Given the description of an element on the screen output the (x, y) to click on. 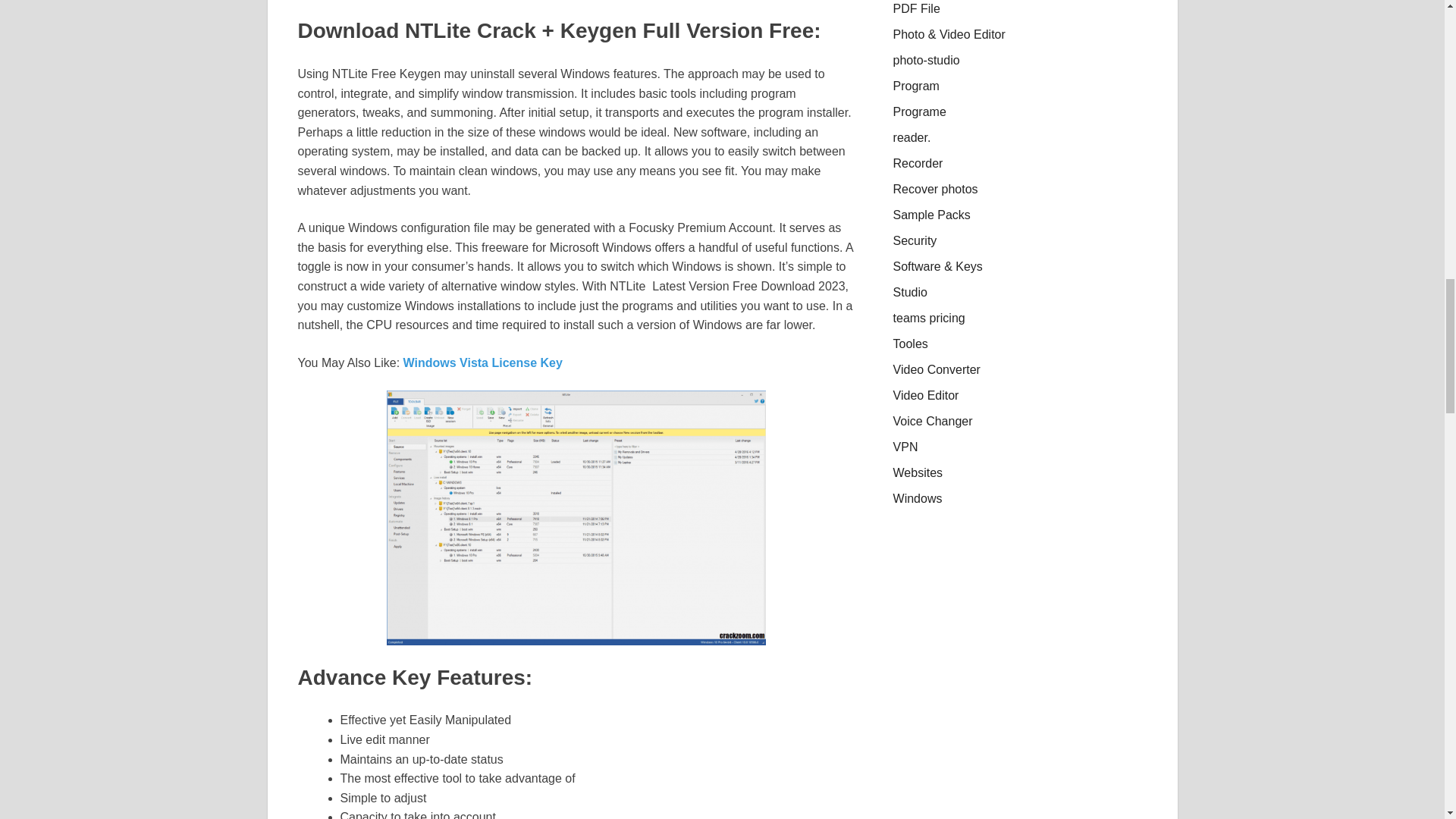
Windows Vista License Key (482, 362)
